Given the description of an element on the screen output the (x, y) to click on. 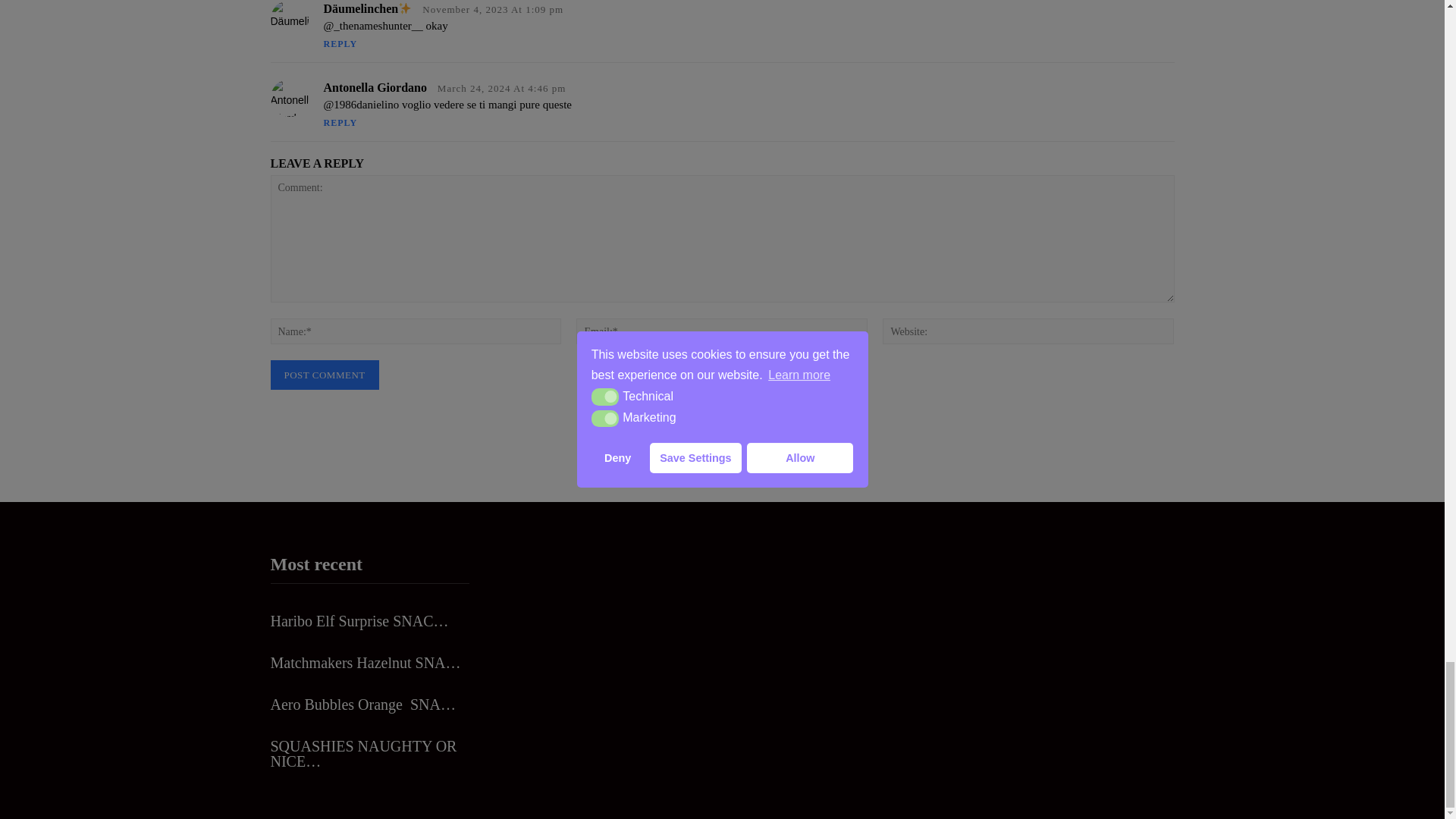
Post Comment (323, 374)
